Given the description of an element on the screen output the (x, y) to click on. 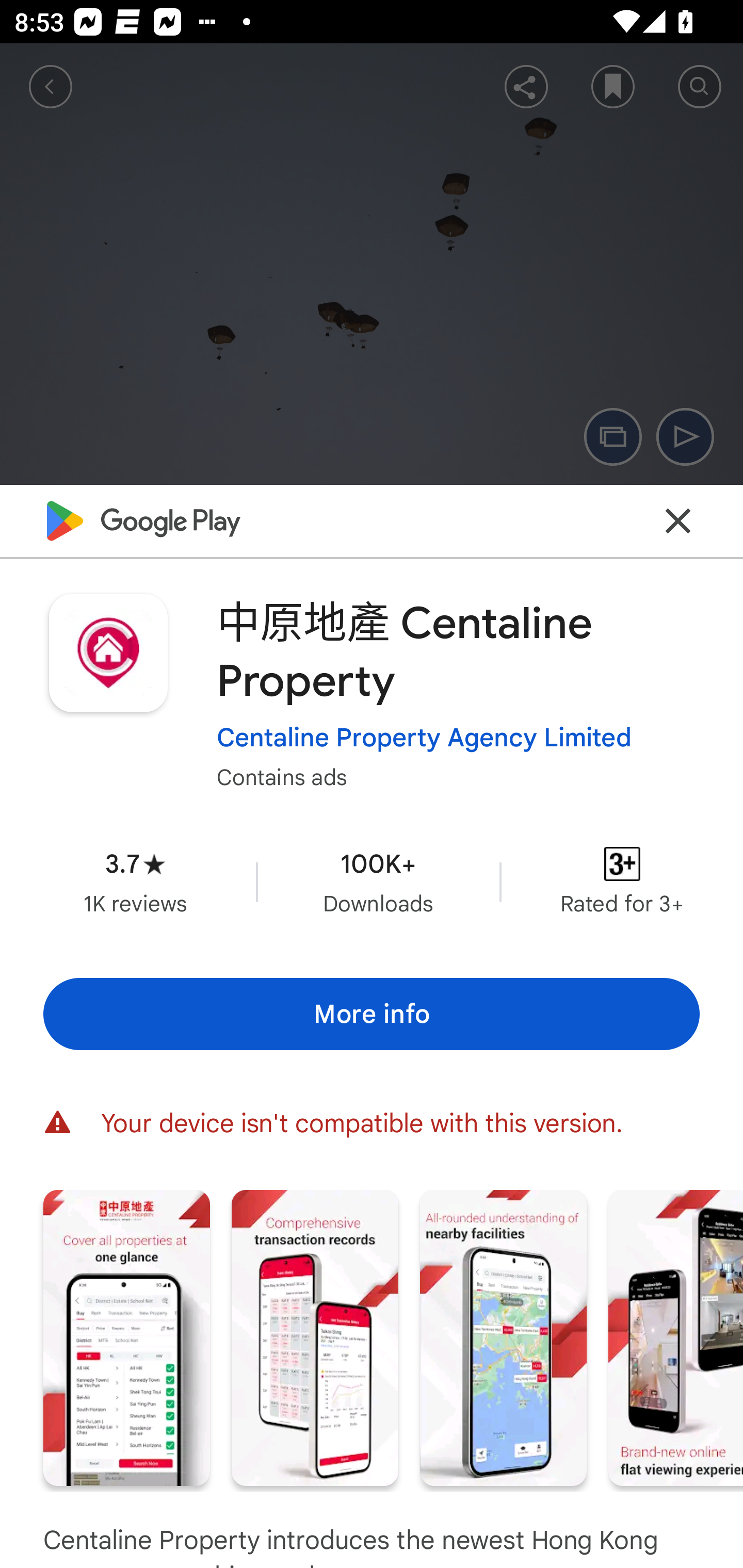
Close (677, 520)
Centaline Property Agency Limited (423, 737)
More info (371, 1014)
Screenshot "1" of "8" (126, 1338)
Screenshot "2" of "8" (314, 1338)
Screenshot "3" of "8" (502, 1338)
Screenshot "4" of "8" (675, 1338)
